Given the description of an element on the screen output the (x, y) to click on. 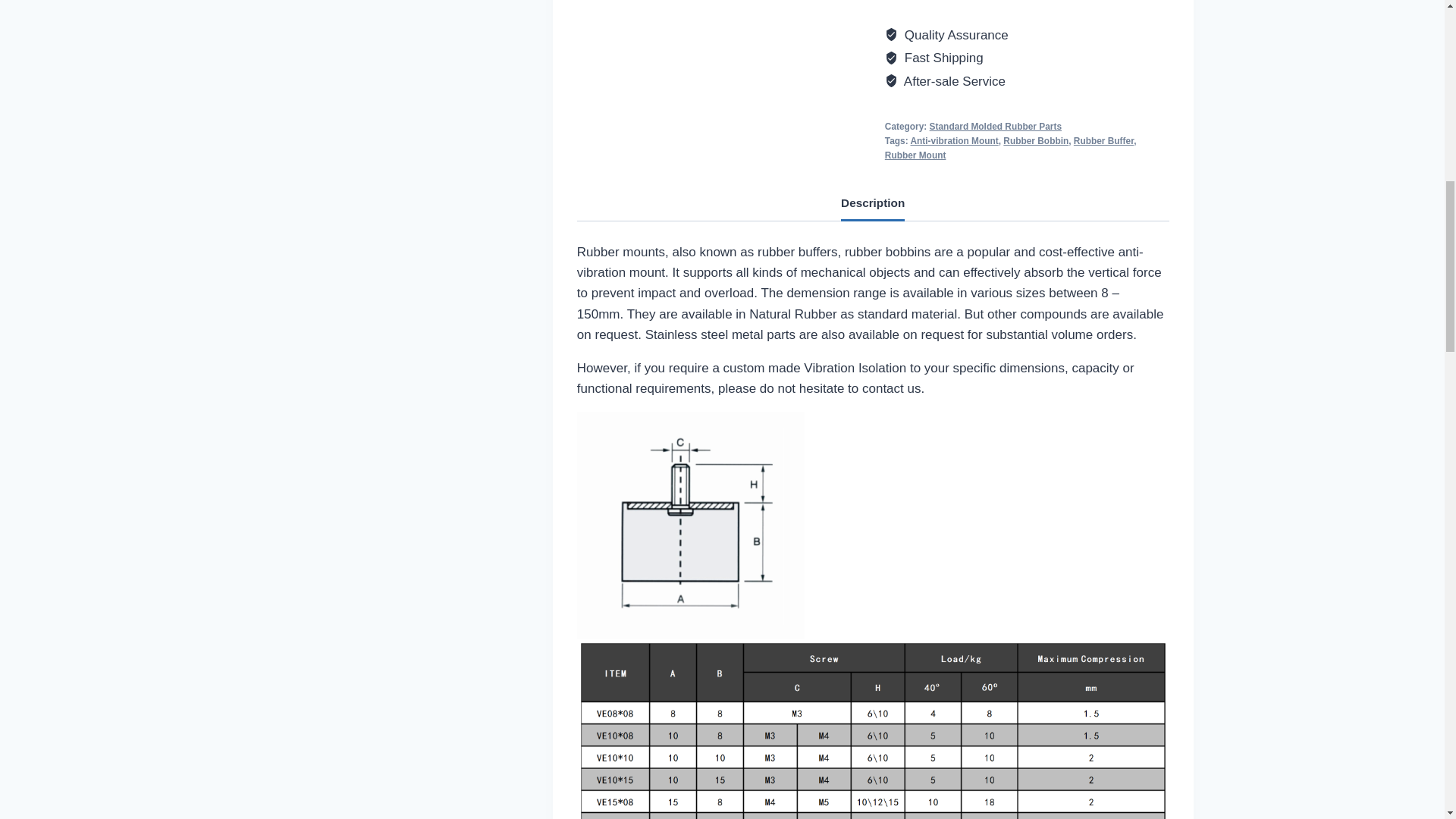
Description (872, 204)
Standard Molded Rubber Parts (995, 126)
Anti-vibration Mount (953, 140)
Rubber Buffer (1104, 140)
Rubber Mount (915, 154)
Rubber Bobbin (1035, 140)
